Given the description of an element on the screen output the (x, y) to click on. 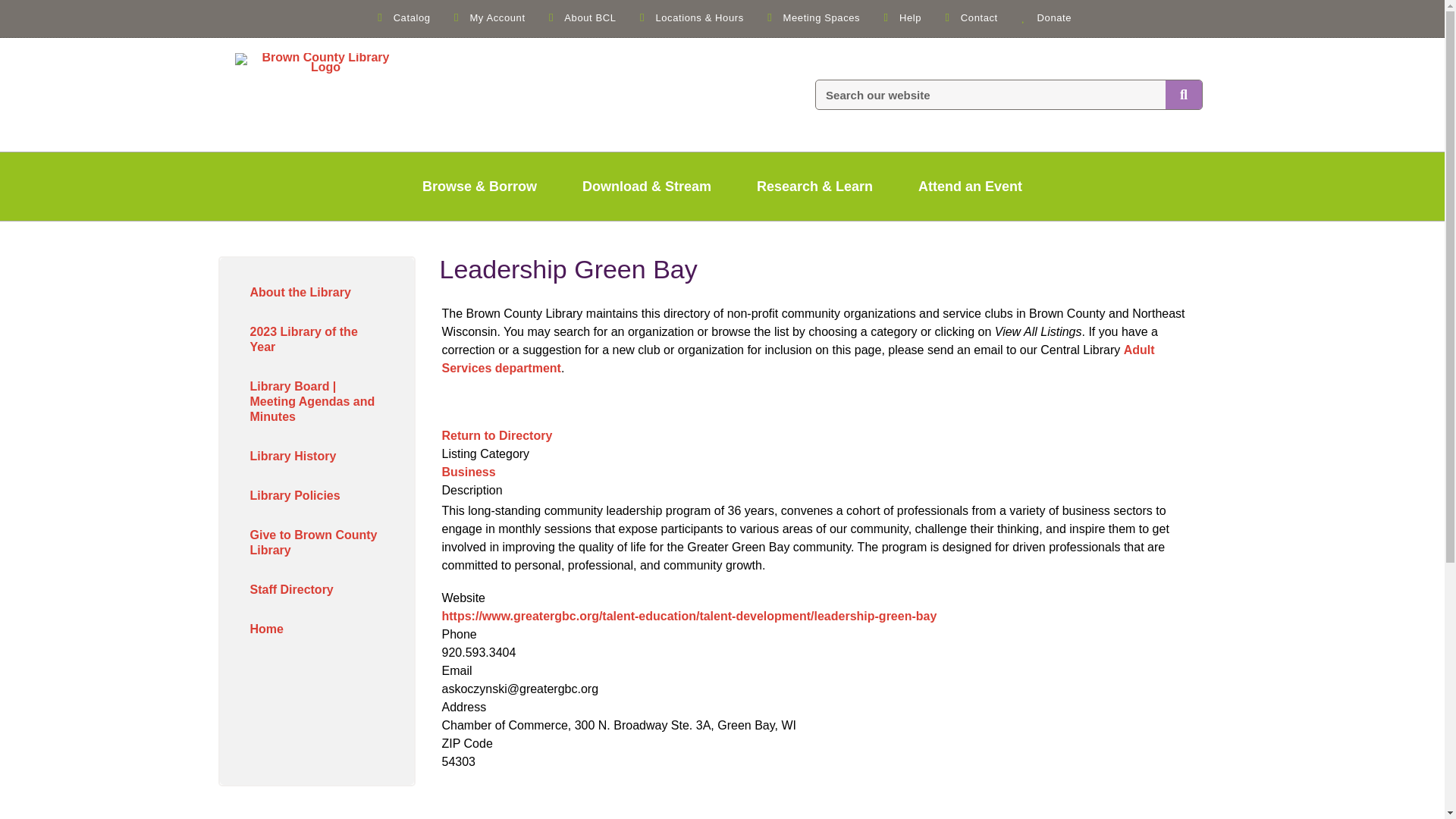
Help (900, 17)
Catalog (401, 17)
Donate (1043, 17)
My Account (487, 17)
Search (203, 258)
Meeting Spaces (811, 17)
Contact (968, 17)
About BCL (579, 17)
